Given the description of an element on the screen output the (x, y) to click on. 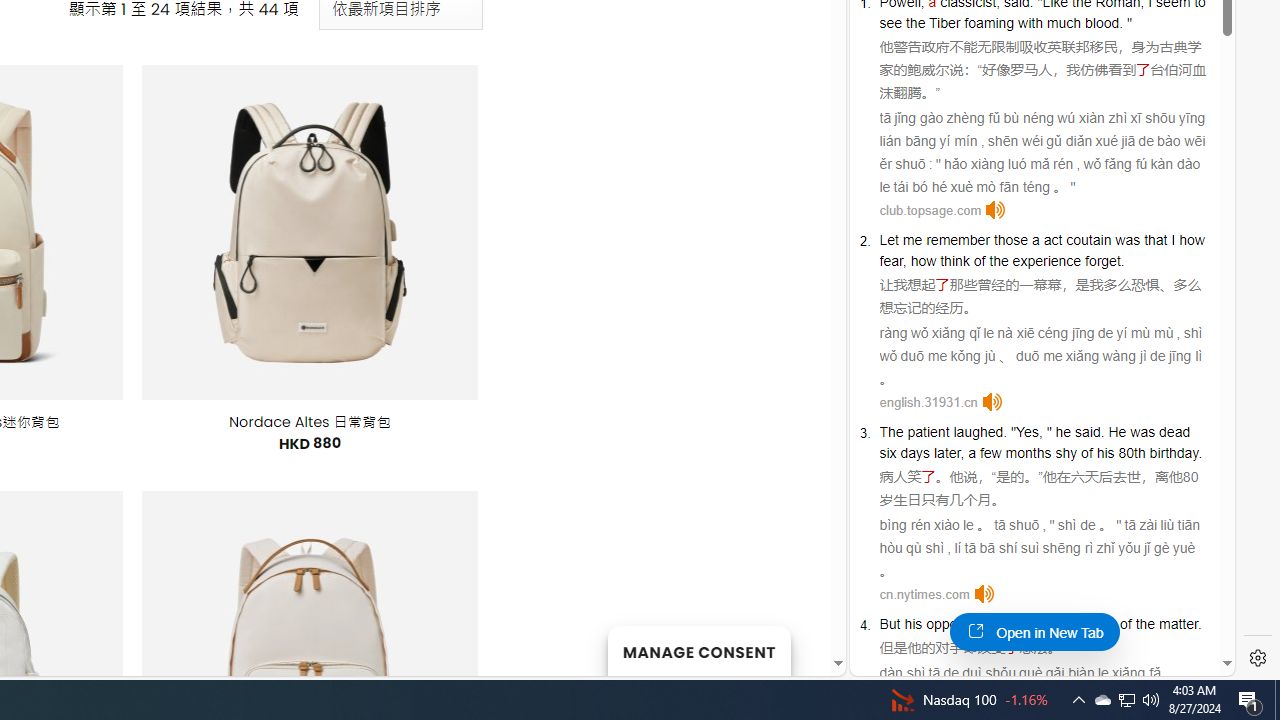
club.topsage.com (930, 210)
Let (888, 239)
six (888, 452)
me (912, 239)
He (1117, 431)
But (890, 624)
Click to listen (984, 594)
The (891, 431)
